Given the description of an element on the screen output the (x, y) to click on. 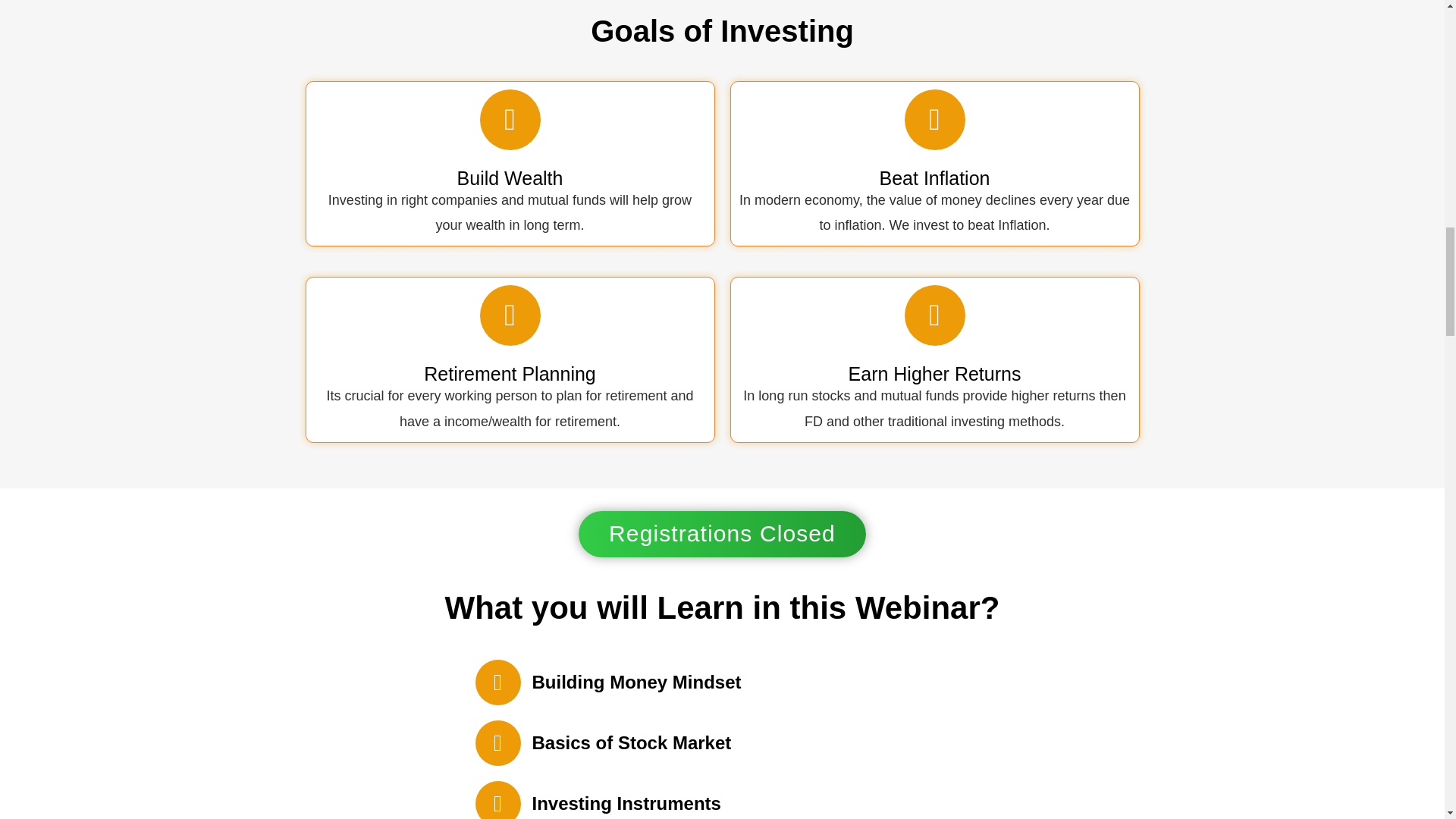
Registrations Closed (722, 534)
